Given the description of an element on the screen output the (x, y) to click on. 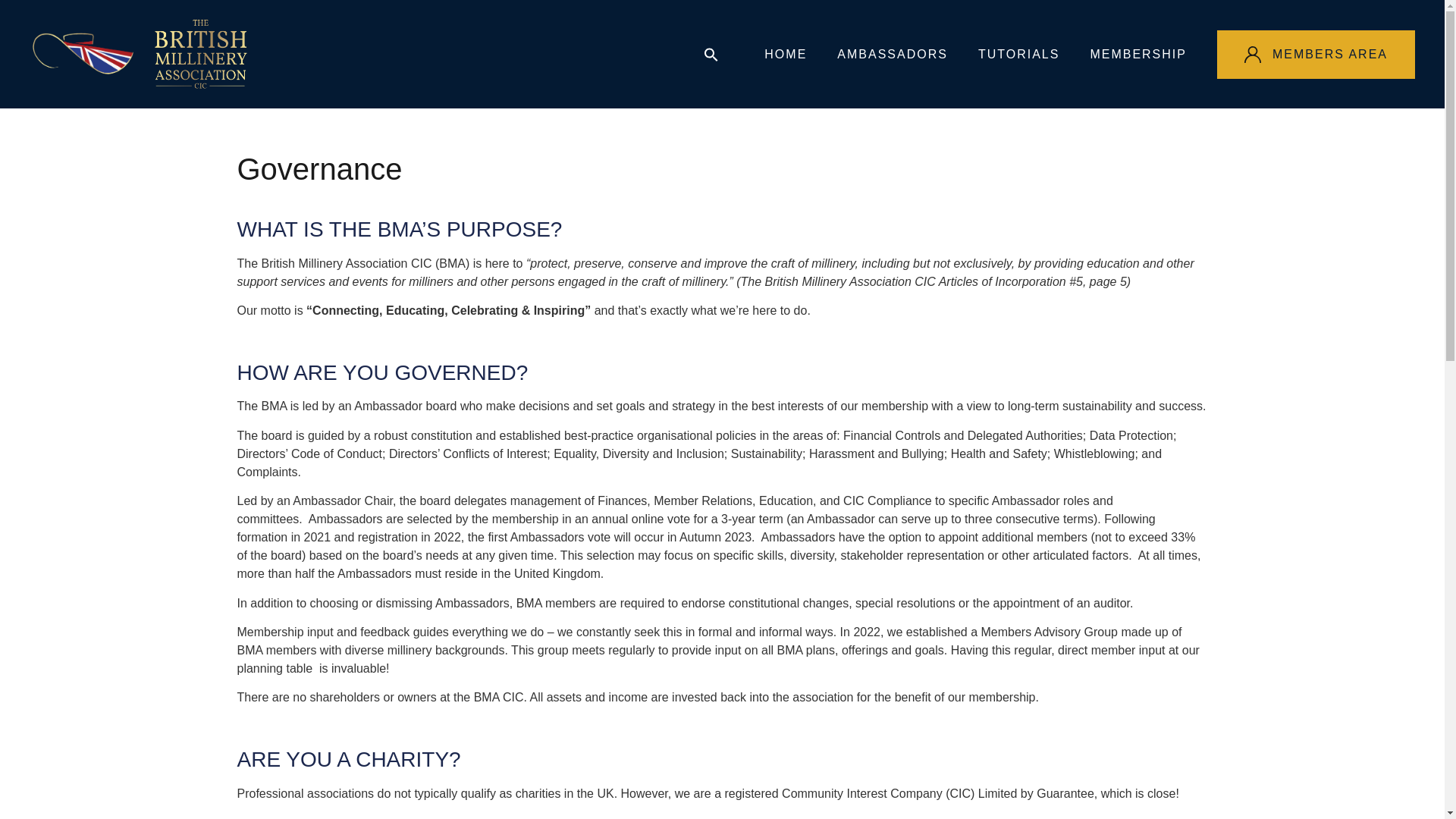
TUTORIALS (1018, 54)
MEMBERSHIP (1137, 54)
AMBASSADORS (892, 54)
MEMBERS AREA (1316, 54)
